Given the description of an element on the screen output the (x, y) to click on. 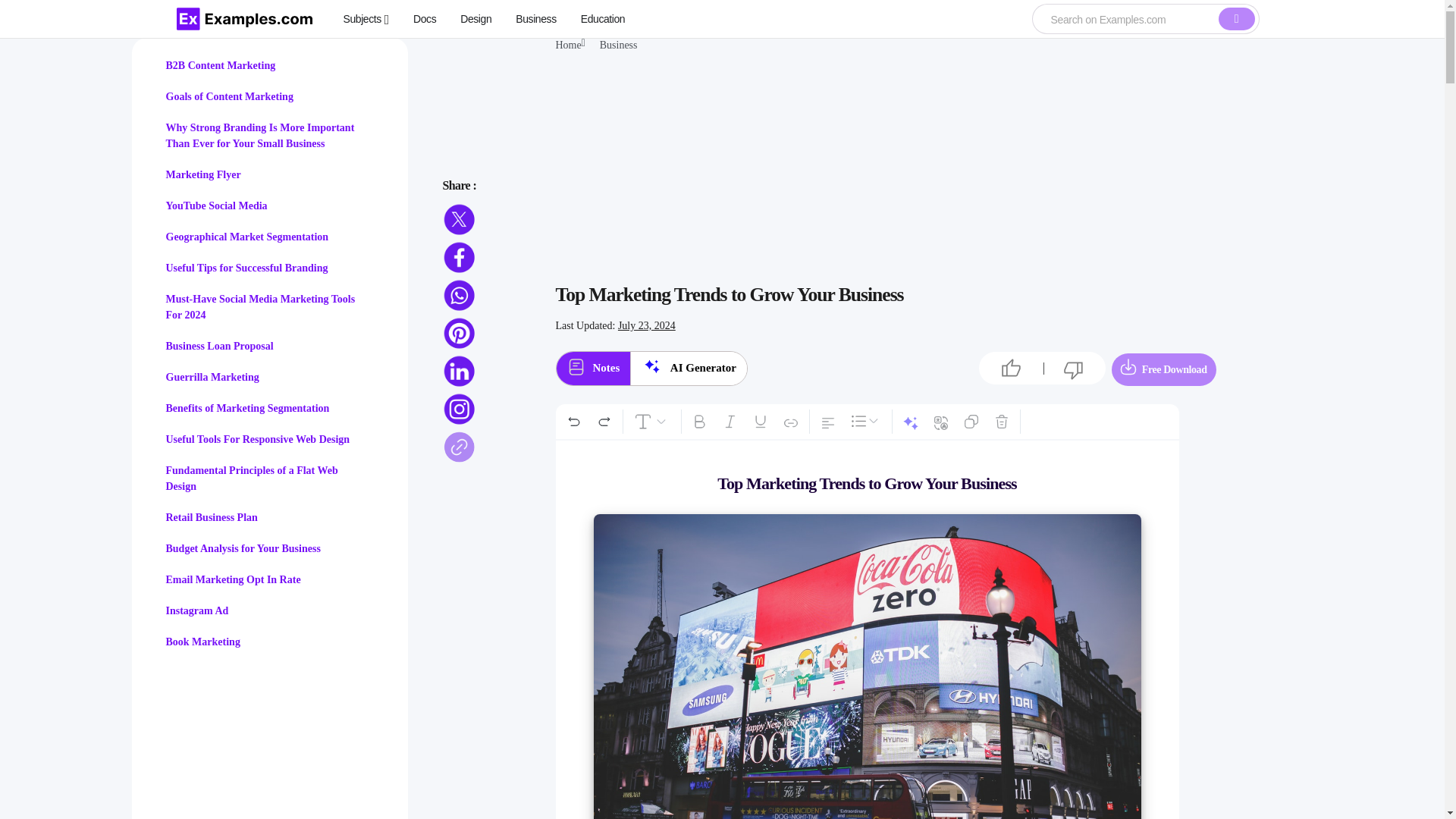
B2B Content Marketing (220, 65)
Useful Tips for Successful Branding (246, 267)
Benefits of Marketing Segmentation (247, 408)
Business (535, 18)
Geographical Market Segmentation (247, 236)
Goals of Content Marketing (228, 96)
Useful Tools For Responsive Web Design (257, 439)
Docs (424, 18)
Education (603, 18)
like (1011, 368)
Must-Have Social Media Marketing Tools For 2024 (260, 307)
Home (567, 45)
Marketing Flyer (202, 174)
YouTube Social Media (215, 205)
